Given the description of an element on the screen output the (x, y) to click on. 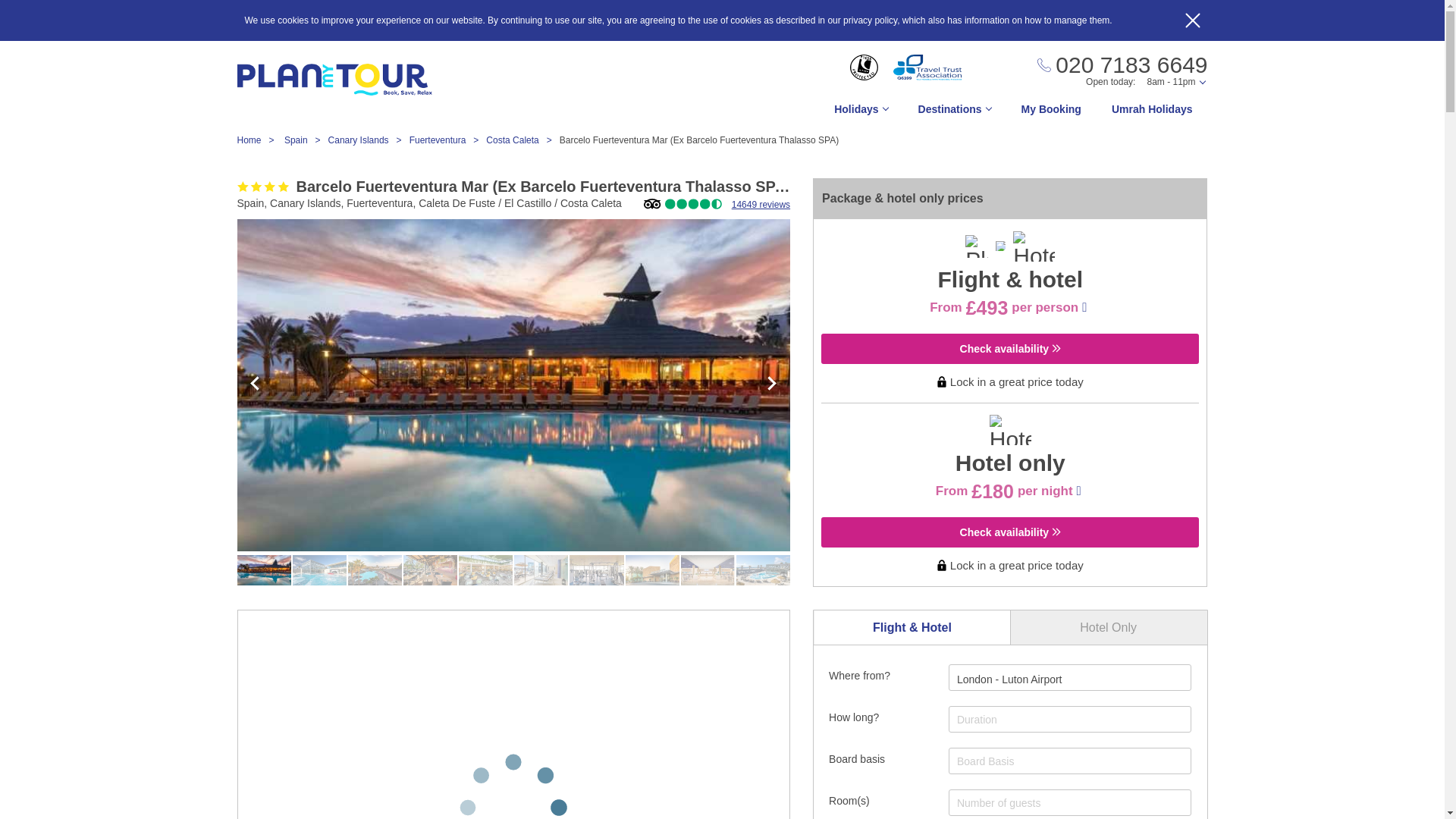
Destinations (954, 112)
Holidays (860, 112)
020 7183 6649 (1121, 65)
London - Luton Airport (1009, 679)
